Given the description of an element on the screen output the (x, y) to click on. 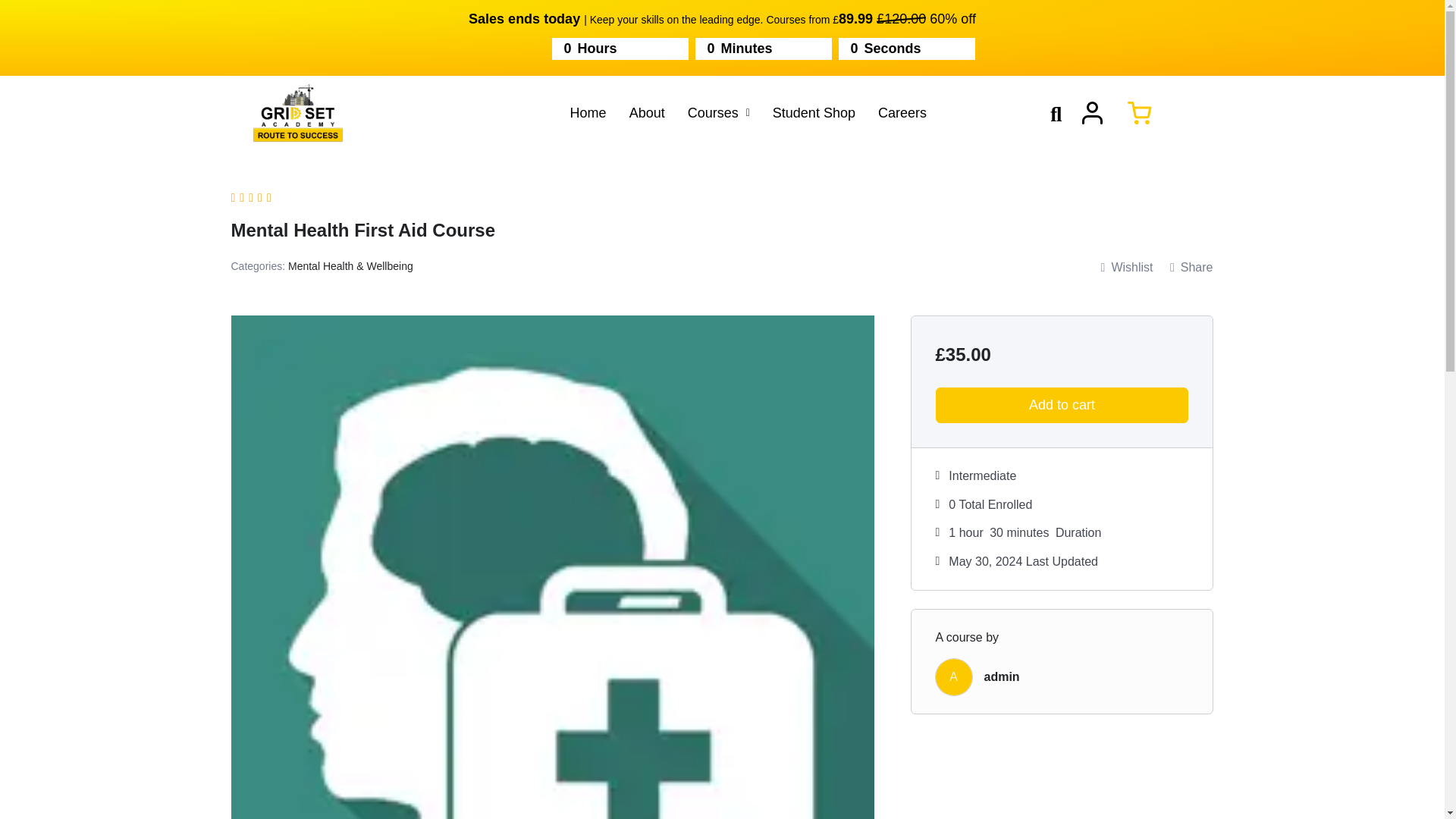
Courses (719, 113)
Share (1191, 267)
Home (588, 113)
Wishlist (1127, 267)
Search (1046, 114)
Student Shop (813, 113)
admin (1002, 676)
About (647, 113)
Careers (901, 113)
Add to cart (1062, 405)
